Given the description of an element on the screen output the (x, y) to click on. 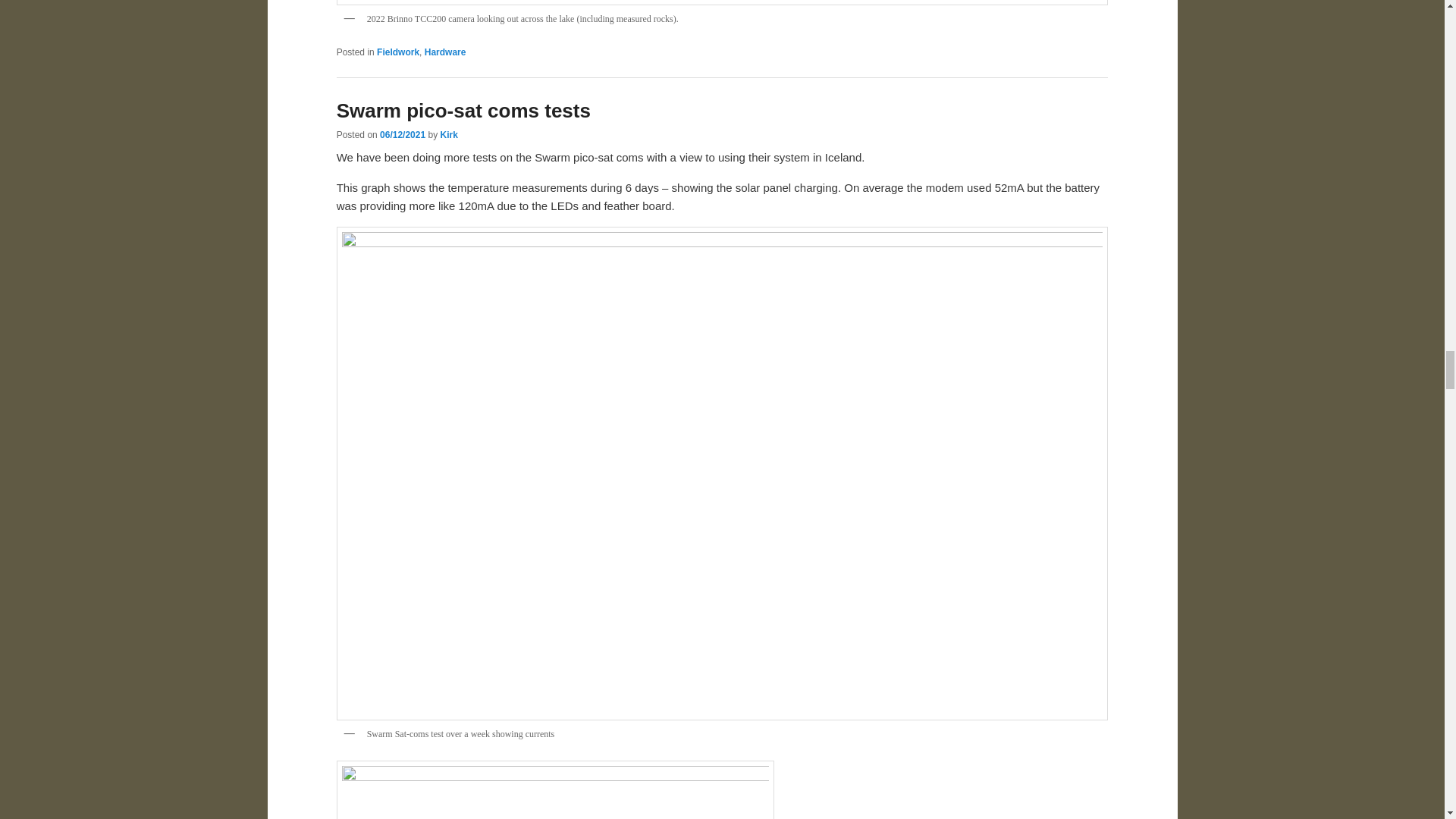
View all posts by Kirk (448, 134)
17:24 (402, 134)
